Given the description of an element on the screen output the (x, y) to click on. 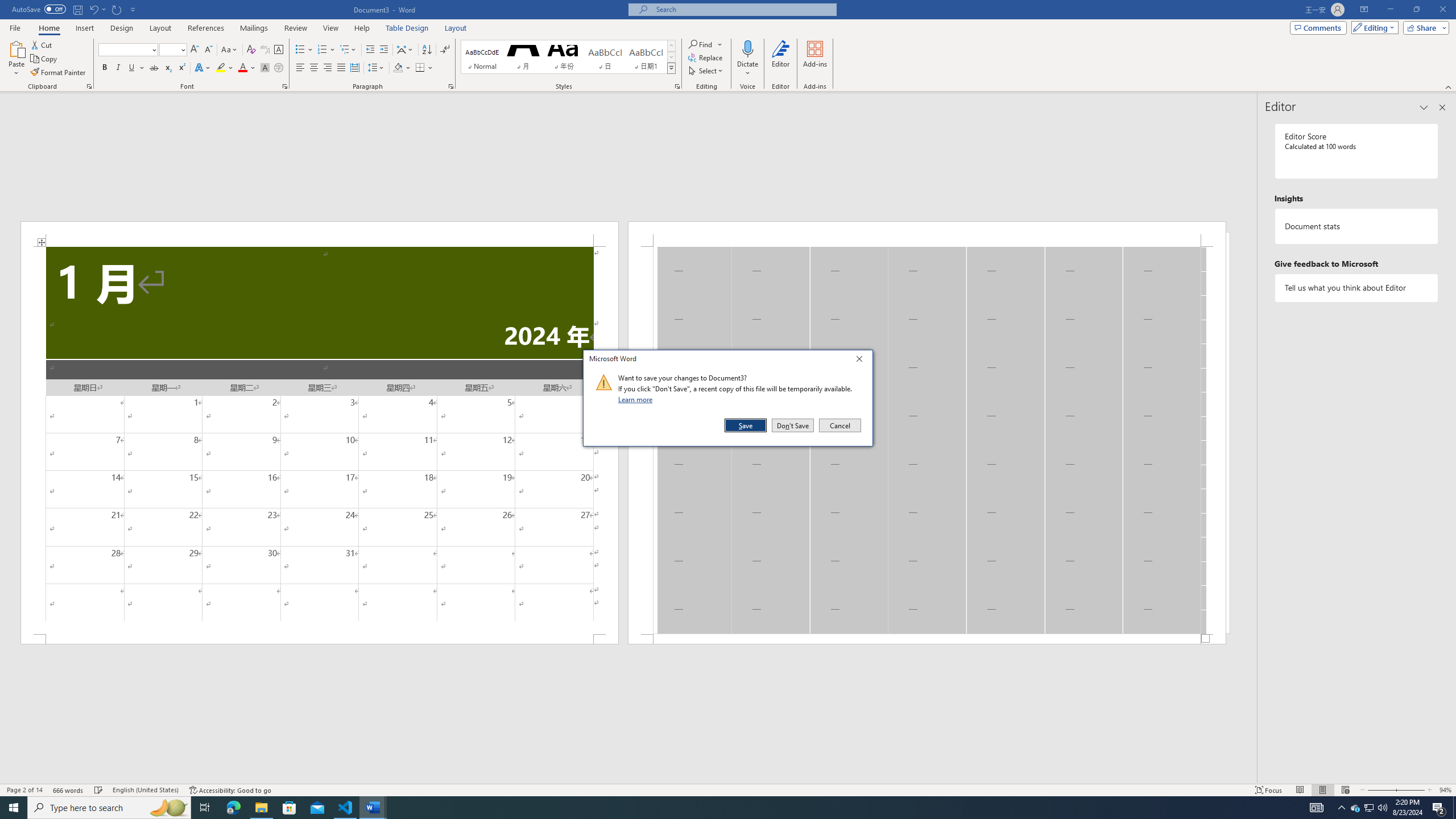
Text Highlight Color Yellow (220, 67)
Document statistics (1356, 226)
Decrease Indent (1368, 807)
Copy (370, 49)
Italic (45, 58)
File Explorer - 1 running window (118, 67)
Microsoft Store (261, 807)
